Given the description of an element on the screen output the (x, y) to click on. 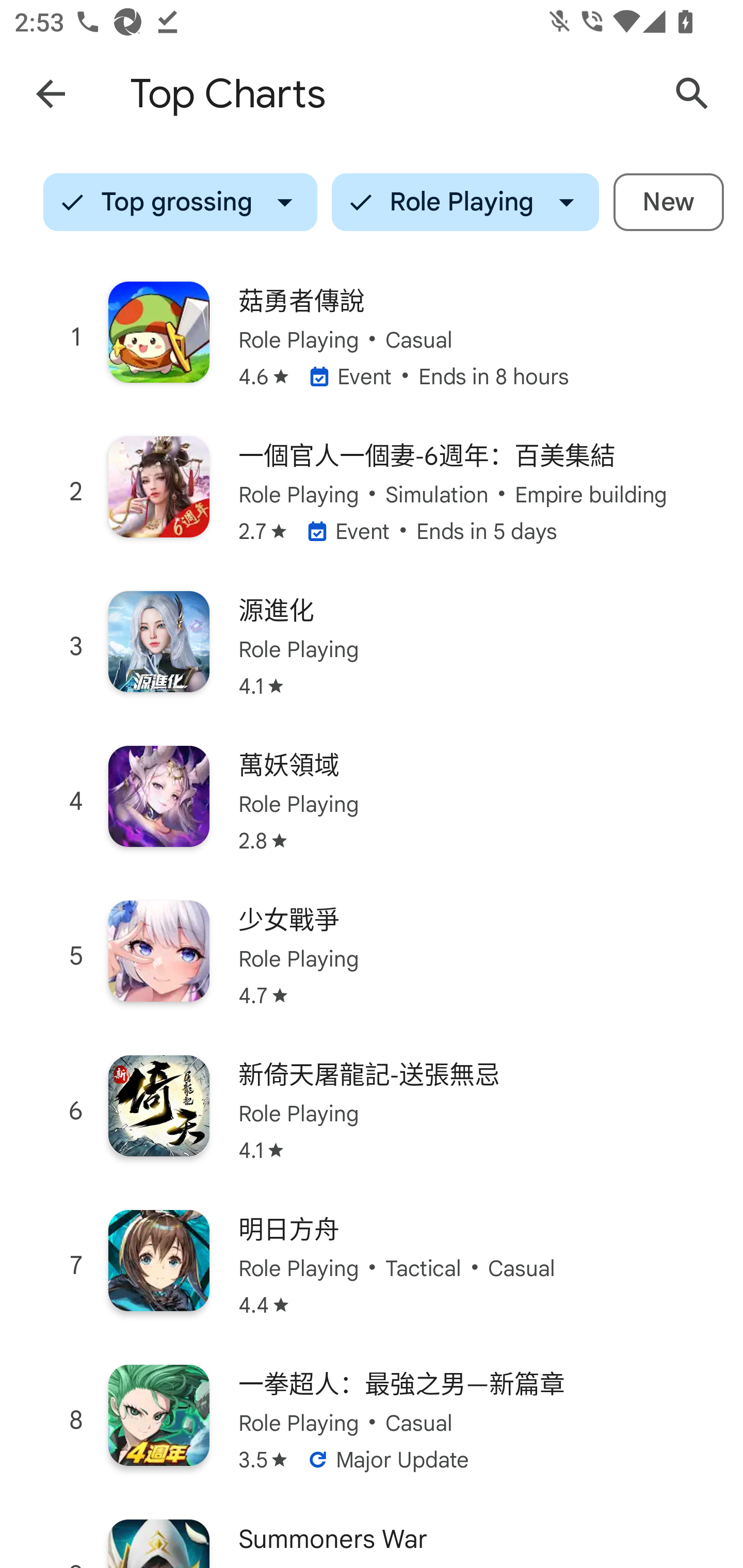
Navigate up (50, 93)
Search Google Play (692, 93)
New - double tap to toggle the filter (668, 202)
3 源進化
Role Playing
Star rating: 4.1
 (371, 646)
4 萬妖領域
Role Playing
Star rating: 2.8
 (371, 801)
5 少女戰爭
Role Playing
Star rating: 4.7
 (371, 956)
6 新倚天屠龍記-送張無忌
Role Playing
Star rating: 4.1
 (371, 1110)
